Given the description of an element on the screen output the (x, y) to click on. 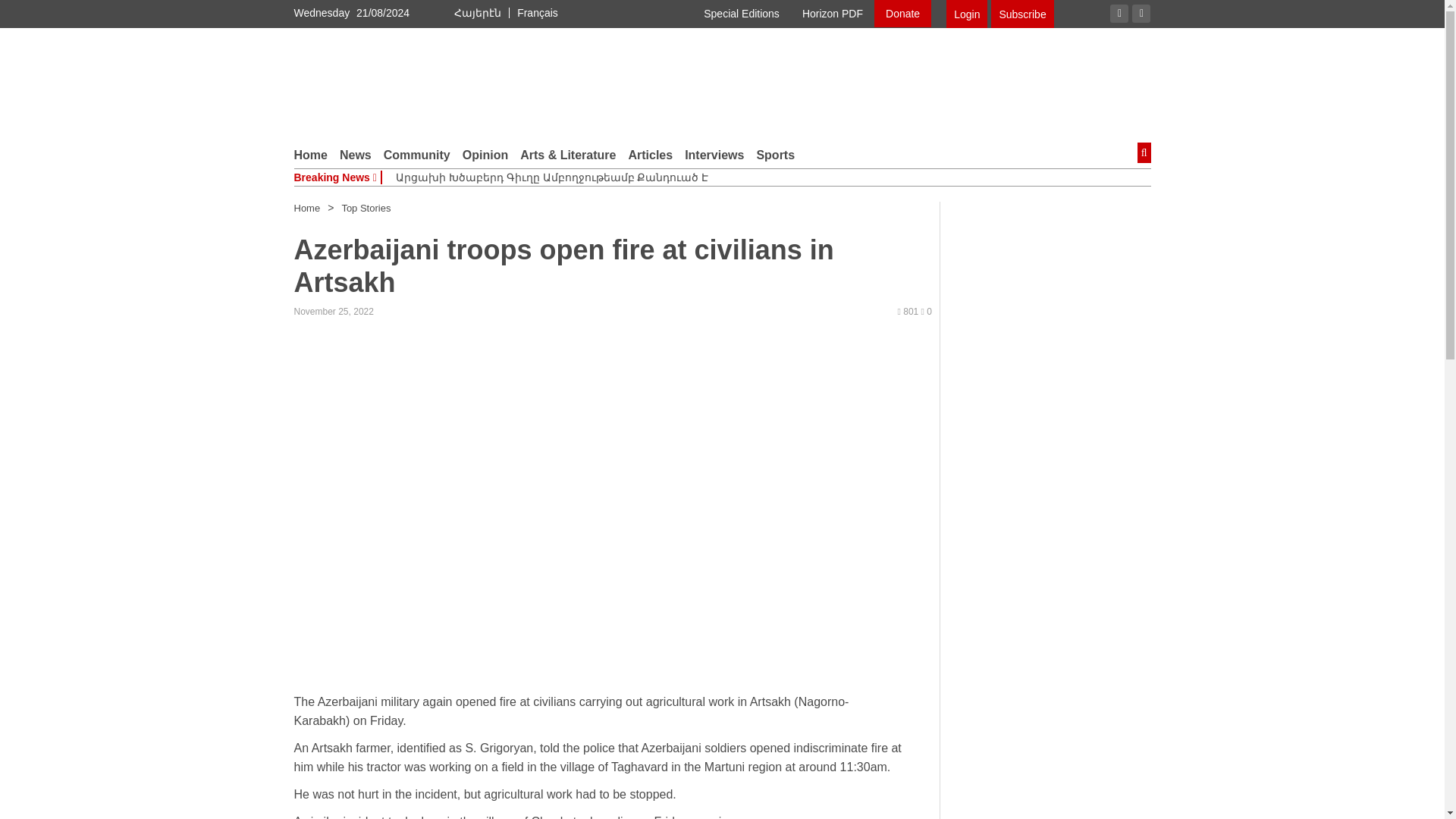
Sports (774, 155)
Interviews (714, 155)
Articles (649, 155)
News (355, 155)
Community (416, 155)
Subscribe (1021, 13)
Login (966, 13)
Opinion (485, 155)
Home (307, 207)
Horizon PDF (832, 13)
